Given the description of an element on the screen output the (x, y) to click on. 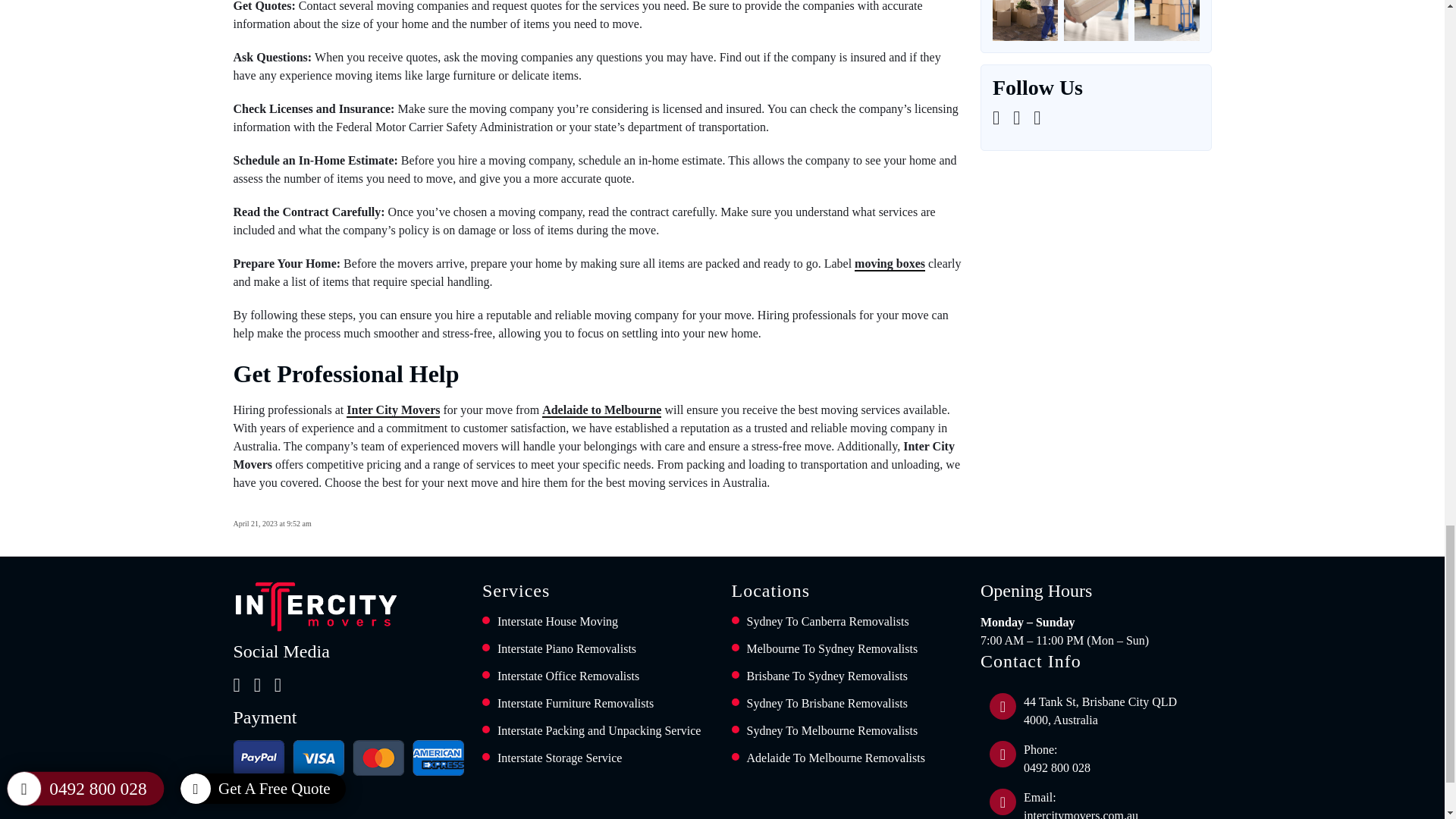
moving boxes (889, 264)
Inter City Movers (392, 410)
Adelaide to Melbourne (601, 410)
